Given the description of an element on the screen output the (x, y) to click on. 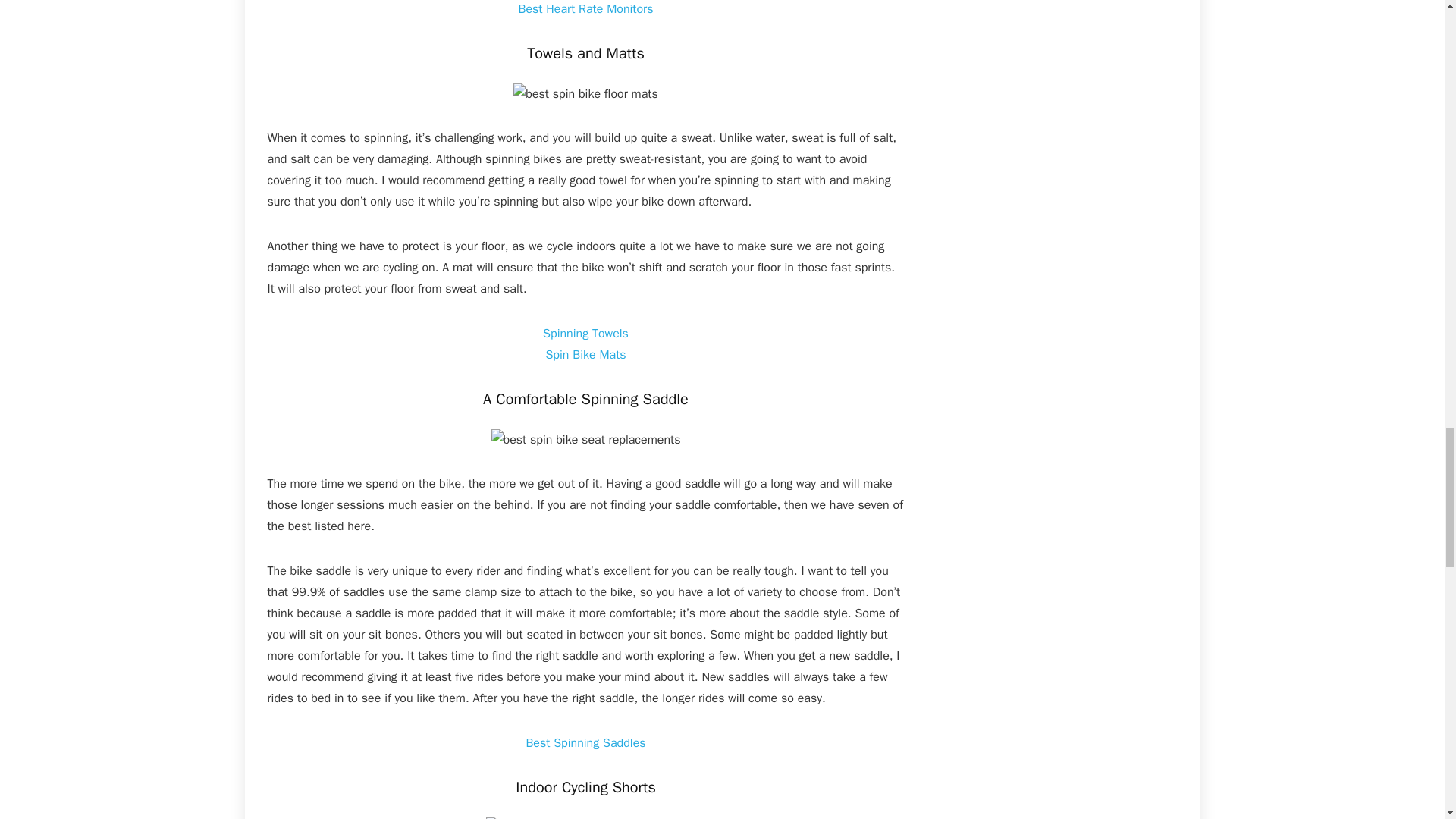
Spin Bike Mats (585, 354)
Spinning Towels (585, 333)
Best Heart Rate Monitors (585, 8)
Best Spinning Saddles (585, 743)
